Given the description of an element on the screen output the (x, y) to click on. 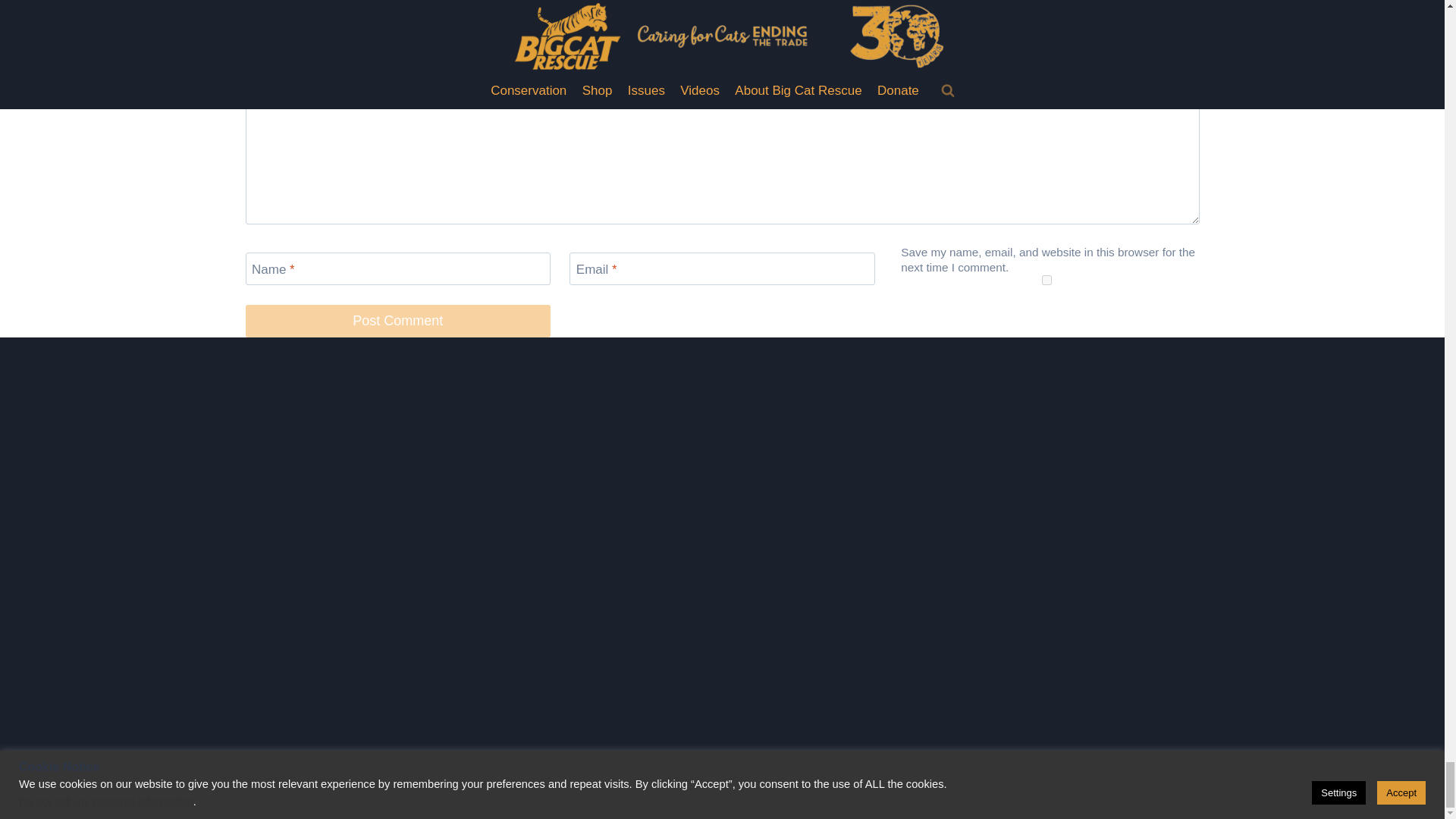
yes (1045, 280)
Post Comment (398, 320)
